Given the description of an element on the screen output the (x, y) to click on. 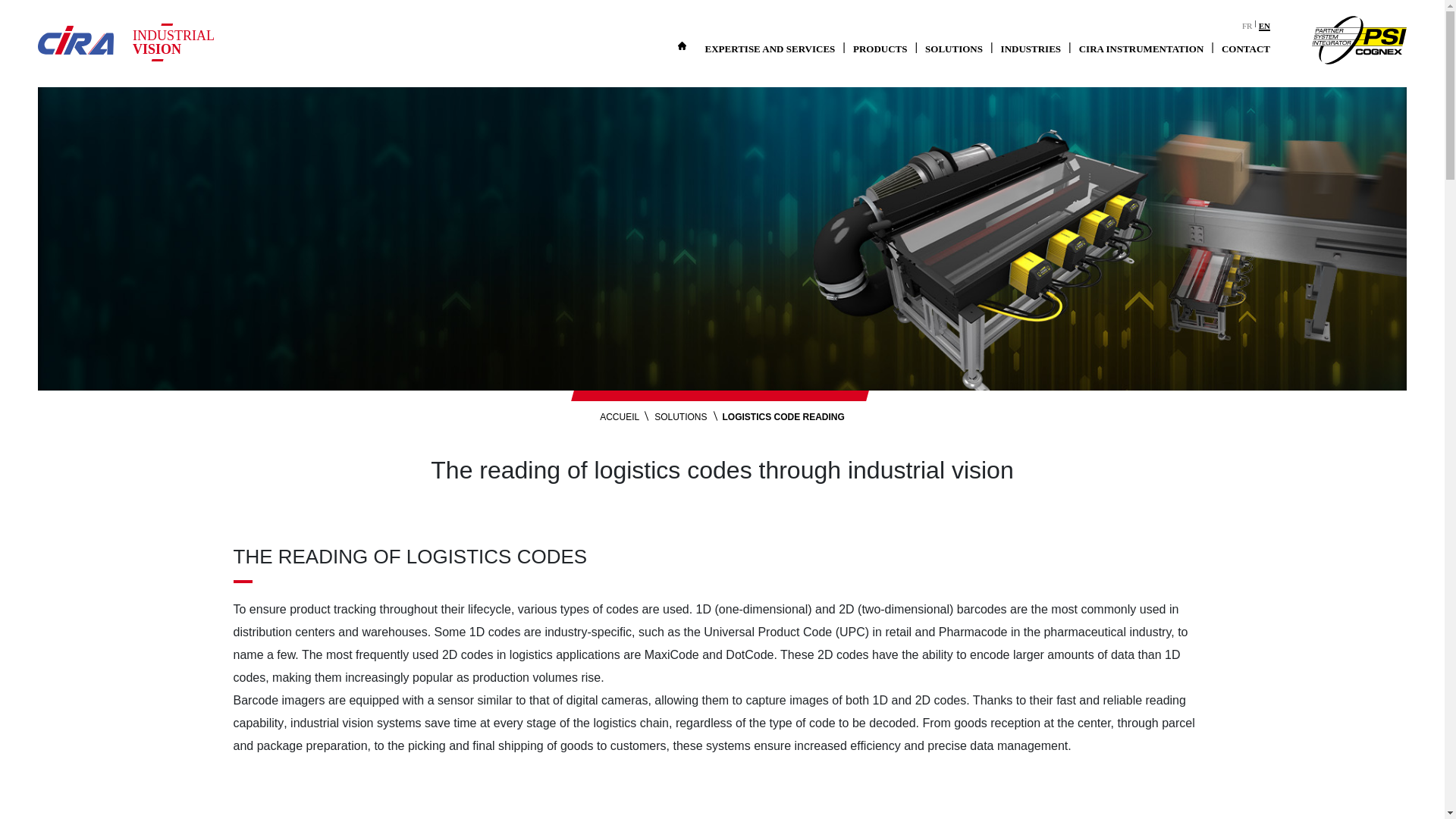
EXPERTISE AND SERVICES (770, 49)
SOLUTIONS (953, 49)
PRODUCTS (880, 49)
INDUSTRIAL VISION (181, 41)
INDUSTRIES (1030, 49)
